Given the description of an element on the screen output the (x, y) to click on. 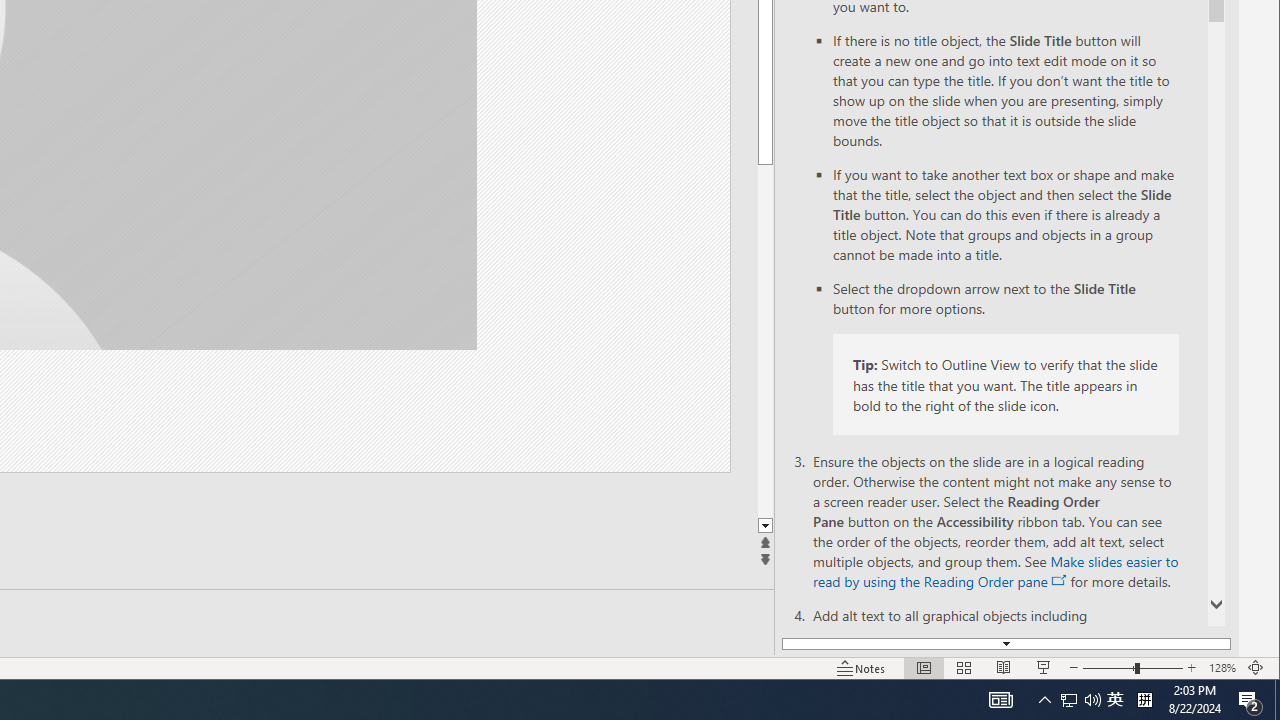
Page down (1115, 699)
openinnewwindow (765, 340)
